Given the description of an element on the screen output the (x, y) to click on. 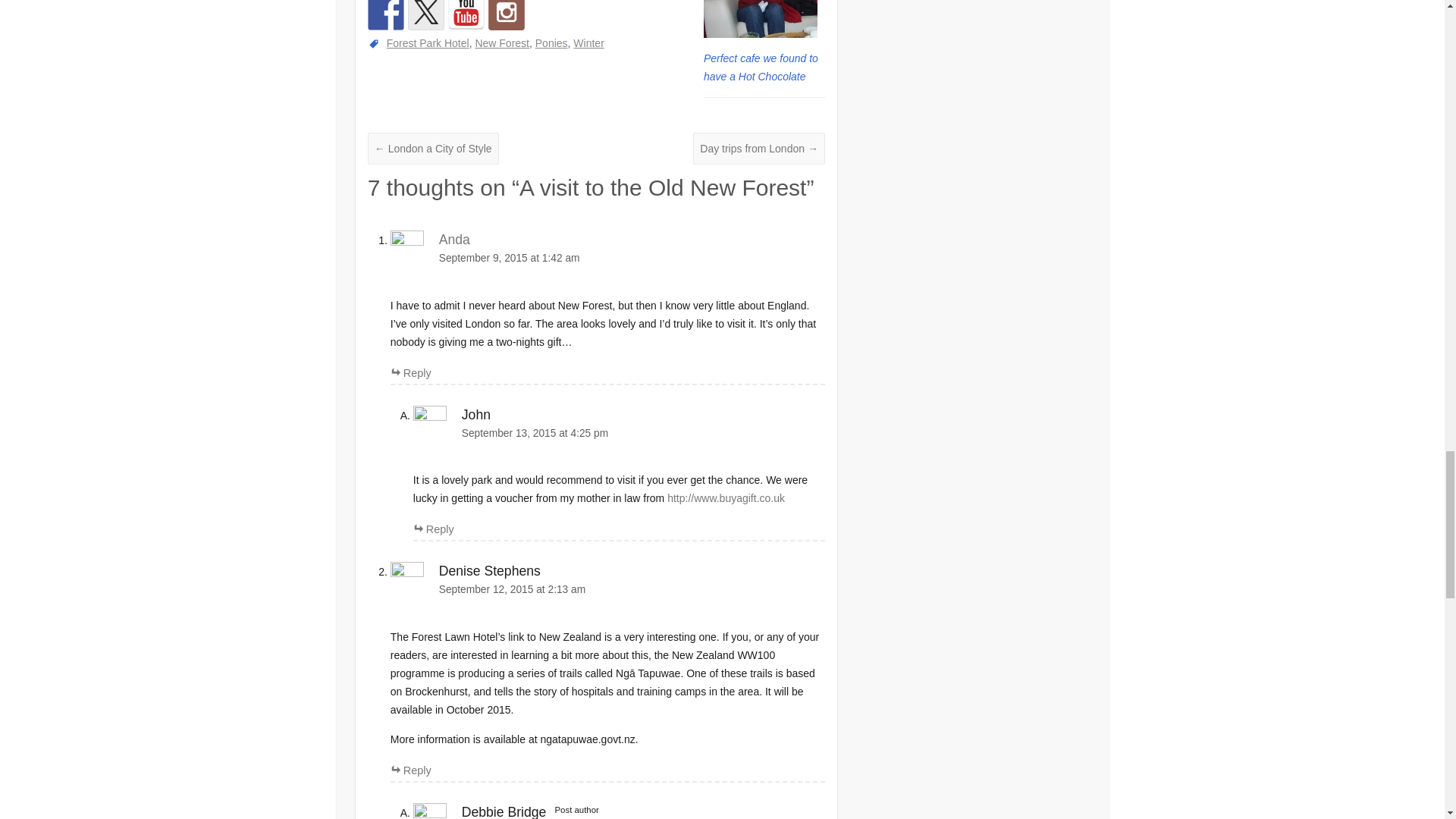
Check out our instagram feed (505, 15)
Bridge the Travel Gap (425, 15)
Bridge the Travel Gap (386, 15)
Bridge the Travel Gap (466, 15)
